Given the description of an element on the screen output the (x, y) to click on. 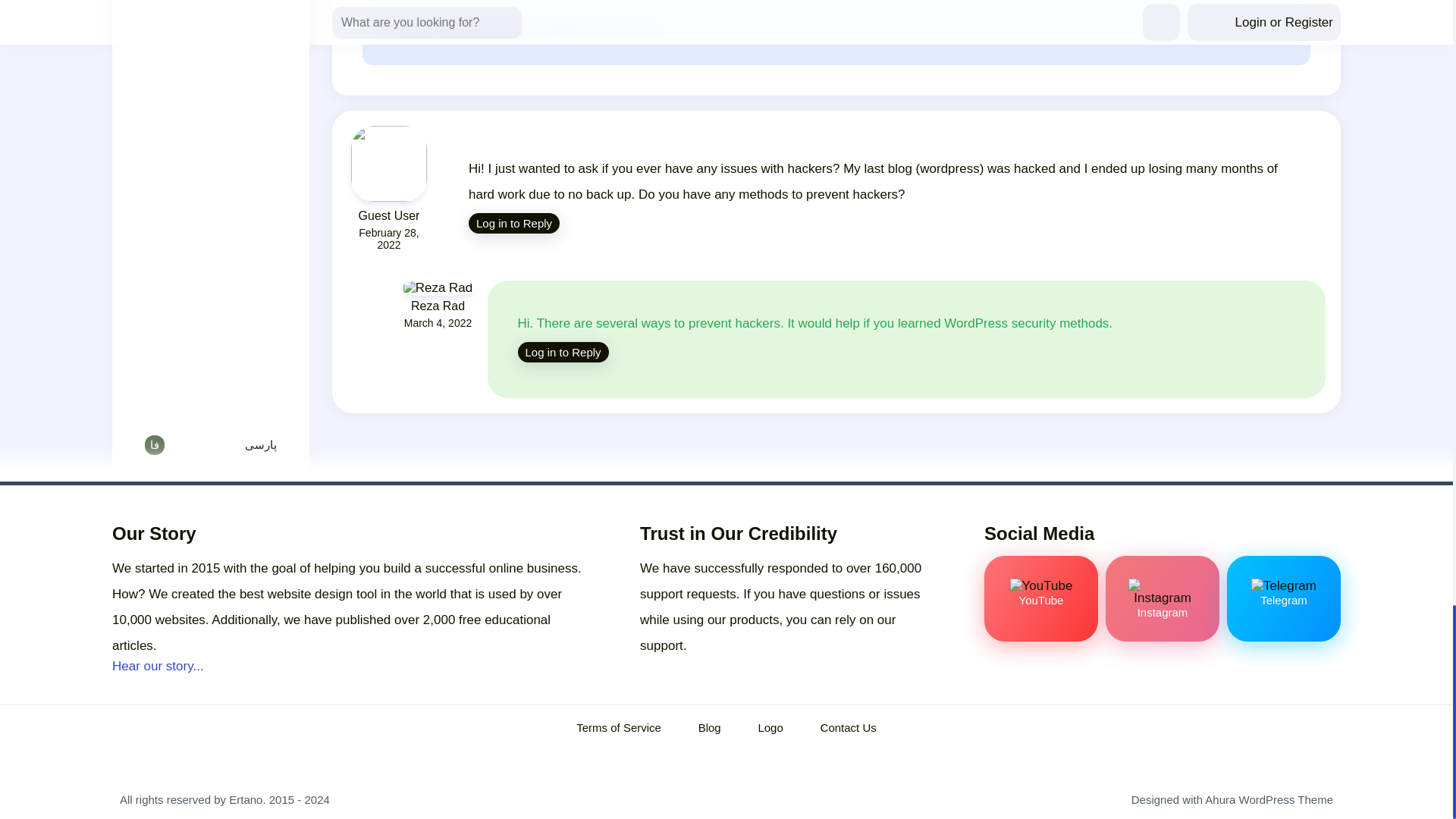
Log in to Reply (513, 222)
free educational articles (331, 632)
Telegram (1283, 598)
Log in to Reply (562, 352)
Instagram (1162, 598)
Terms of Service (618, 727)
the best website design tool in the world (332, 594)
YouTube (1040, 598)
Hear our story... (157, 666)
register or log in first. (603, 29)
